Given the description of an element on the screen output the (x, y) to click on. 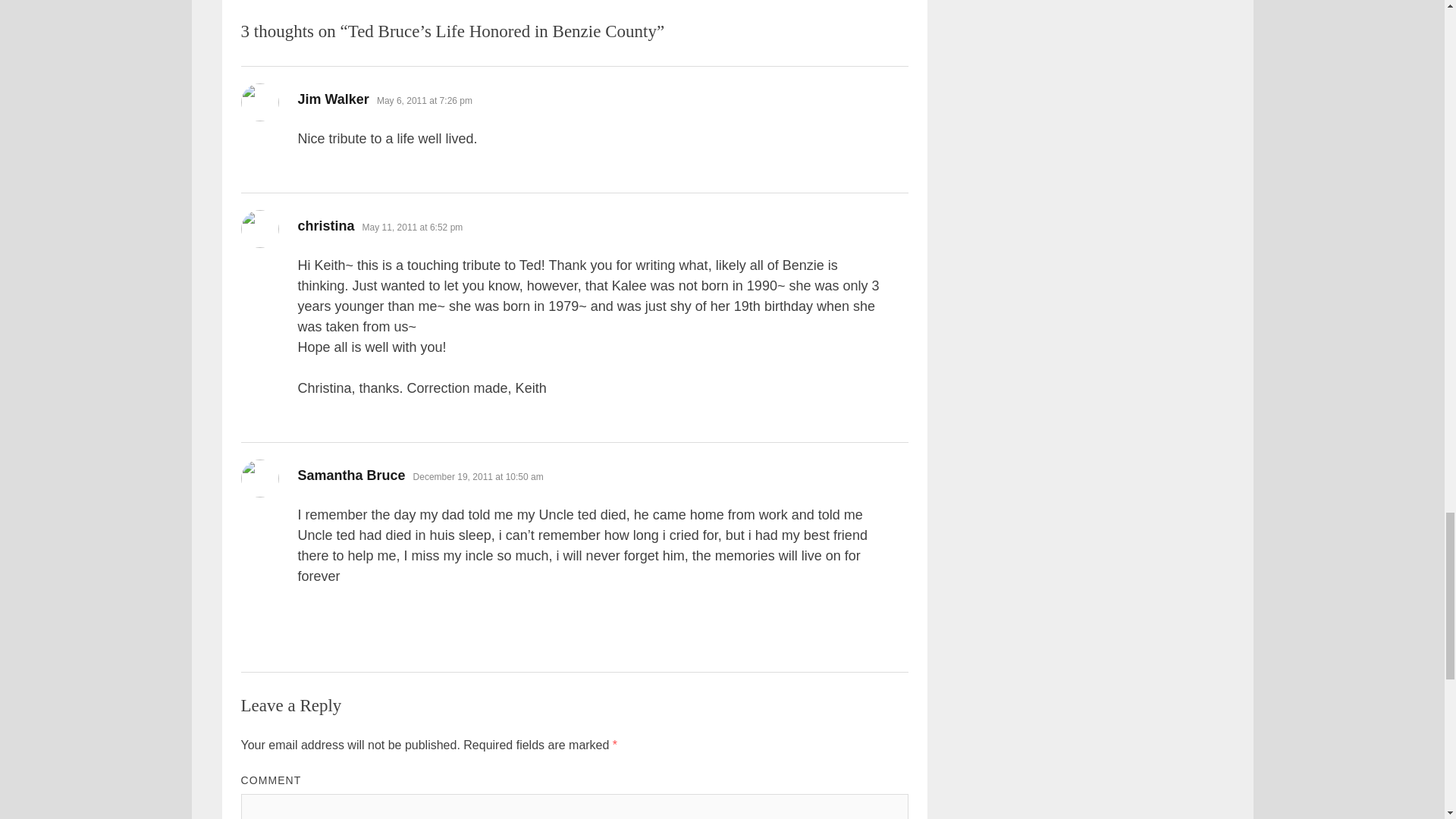
December 19, 2011 at 10:50 am (478, 476)
May 11, 2011 at 6:52 pm (412, 226)
May 6, 2011 at 7:26 pm (424, 100)
